Given the description of an element on the screen output the (x, y) to click on. 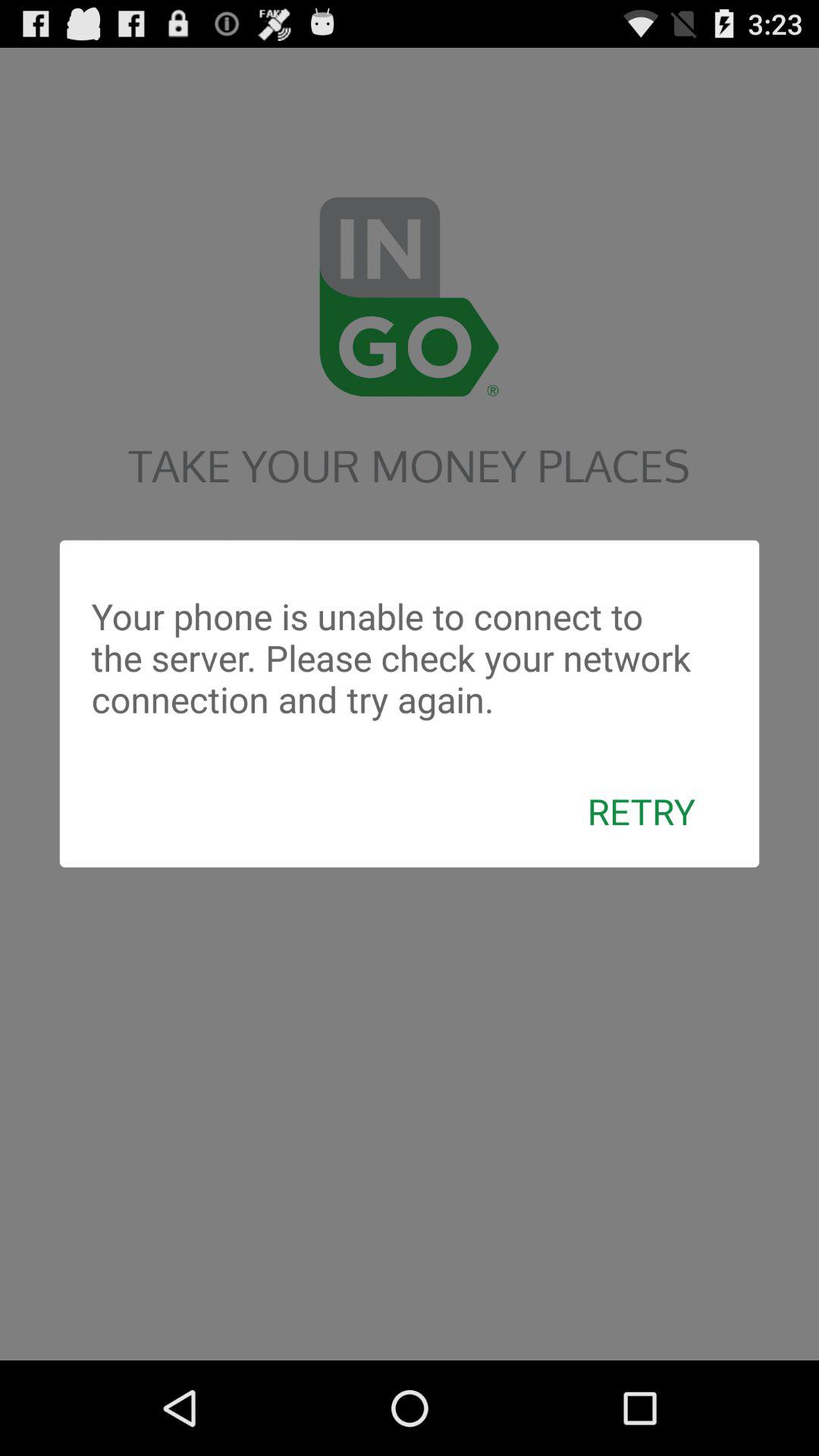
launch retry icon (641, 811)
